Given the description of an element on the screen output the (x, y) to click on. 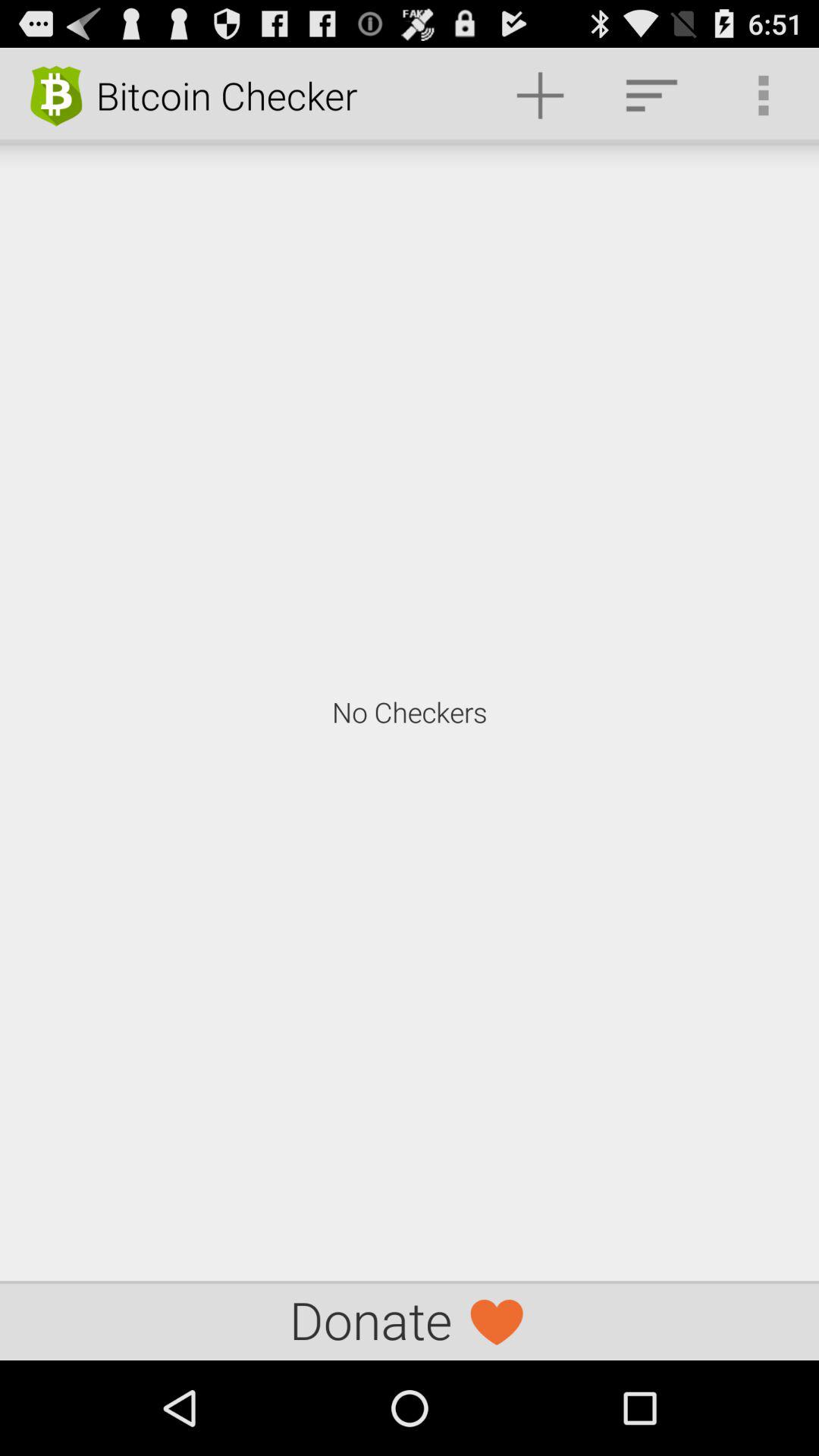
open item to the right of bitcoin checker item (540, 95)
